Given the description of an element on the screen output the (x, y) to click on. 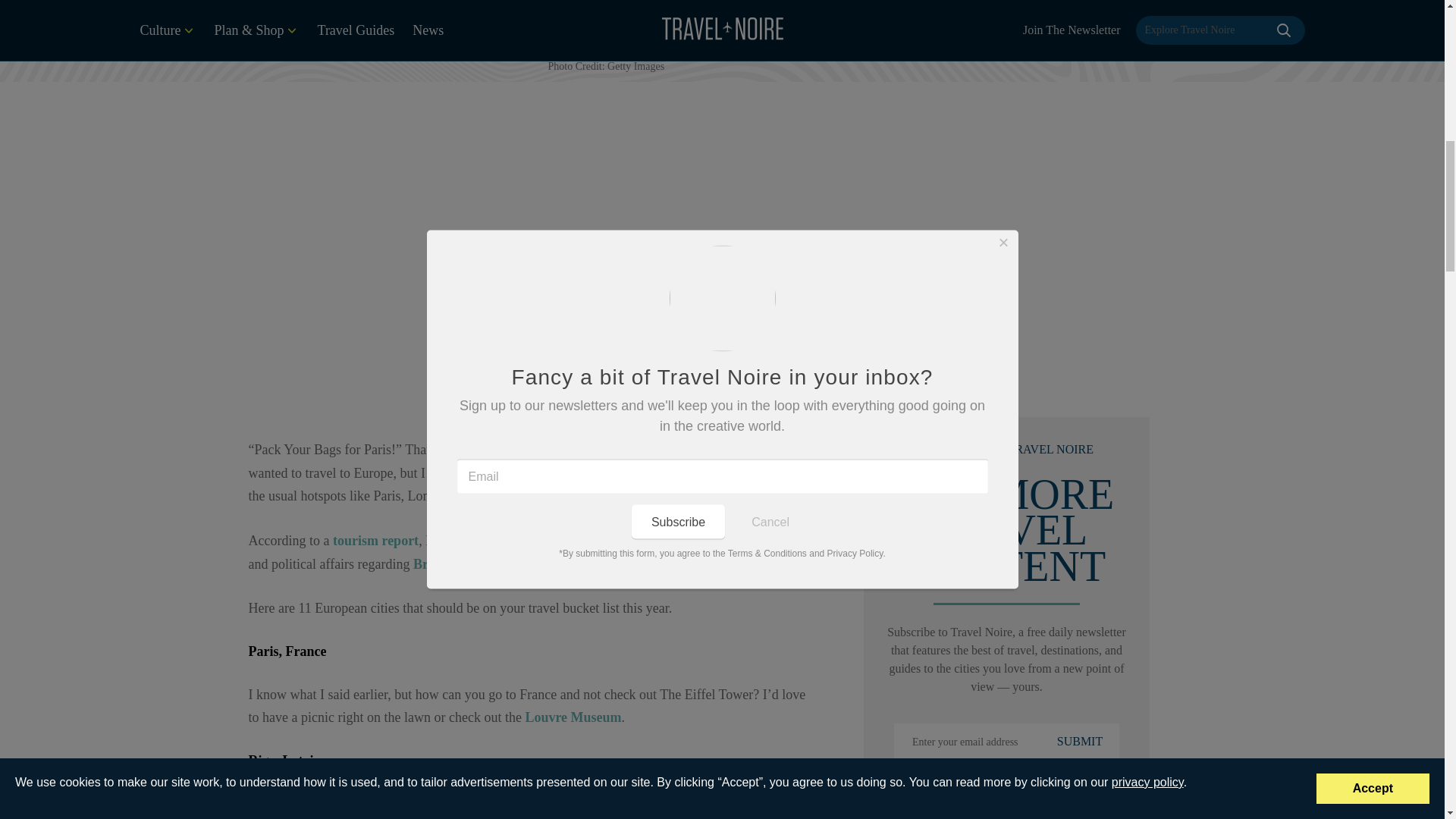
racism (790, 540)
quiz (547, 449)
Louvre Museum (571, 717)
tourism report (376, 540)
Brexit (431, 563)
